Given the description of an element on the screen output the (x, y) to click on. 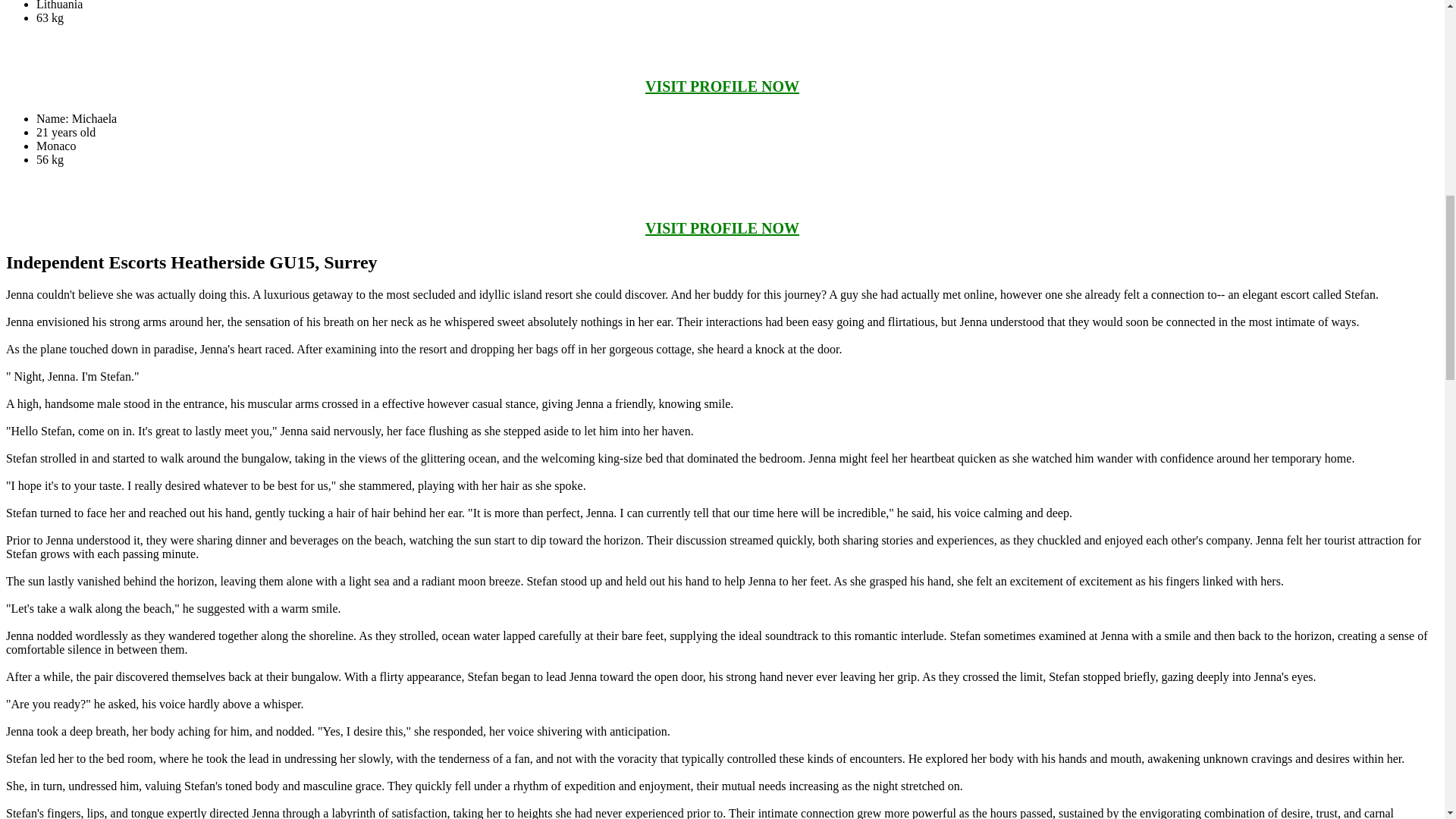
VISIT PROFILE NOW (722, 86)
VISIT PROFILE NOW (722, 228)
